Given the description of an element on the screen output the (x, y) to click on. 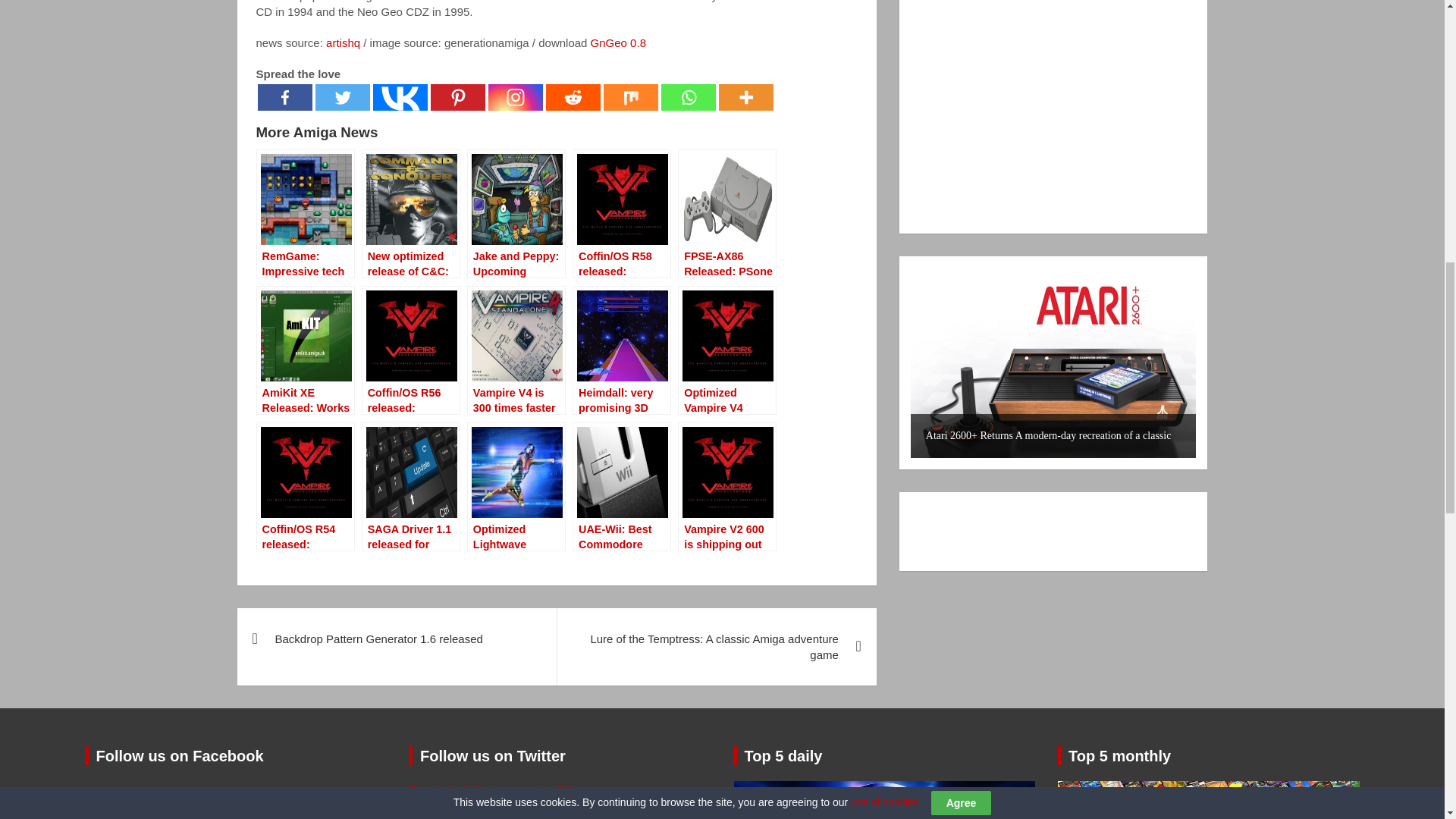
Whatsapp (688, 97)
Vampire V4 is 300 times faster than the Amiga 500 (516, 349)
AmiKit XE Released: Works on any Vampire V2 or V4 (305, 349)
GnGeo 0.8 (618, 42)
Jake and Peppy: Upcoming Vampire game gets new status update (516, 213)
Pinterest (457, 97)
Reddit (572, 97)
artishq (342, 42)
Heimdall: very promising 3D racing game for Vampire users (621, 349)
FPSE-AX86 Released: PSone emulator for AROS (727, 213)
FPSE-AX86 Released: PSone emulator for AROS (727, 213)
Twitter (342, 97)
Instagram (515, 97)
Jake and Peppy: Upcoming Vampire game gets new status update (516, 213)
